Given the description of an element on the screen output the (x, y) to click on. 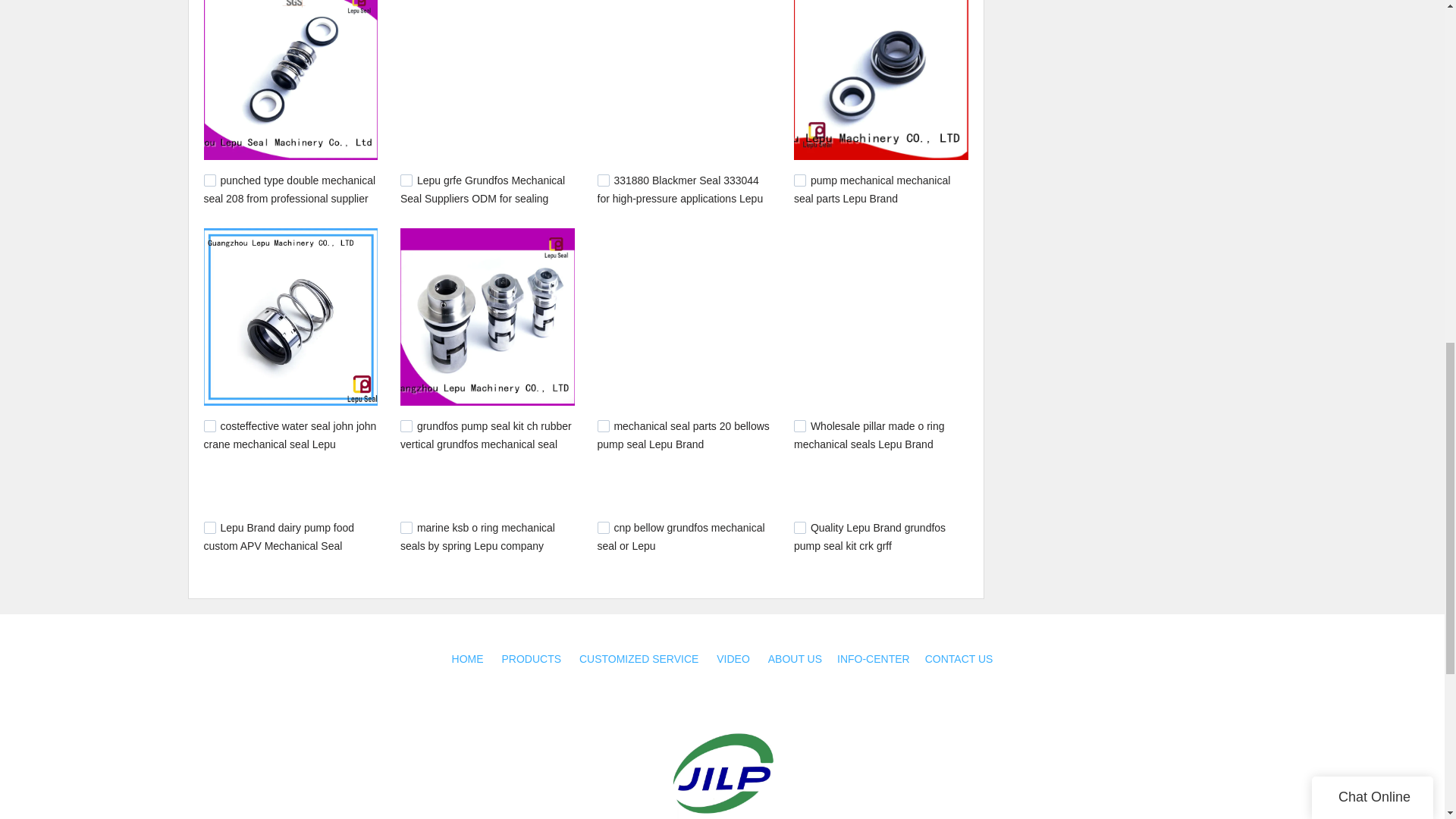
617 (406, 527)
656 (209, 527)
709 (799, 426)
514 (799, 527)
Lepu Brand dairy pump food custom APV Mechanical Seal (278, 536)
960 (603, 180)
mechanical seal parts 20 bellows pump seal Lepu Brand (683, 435)
971 (406, 180)
Wholesale pillar made o ring mechanical seals Lepu Brand (868, 435)
